Given the description of an element on the screen output the (x, y) to click on. 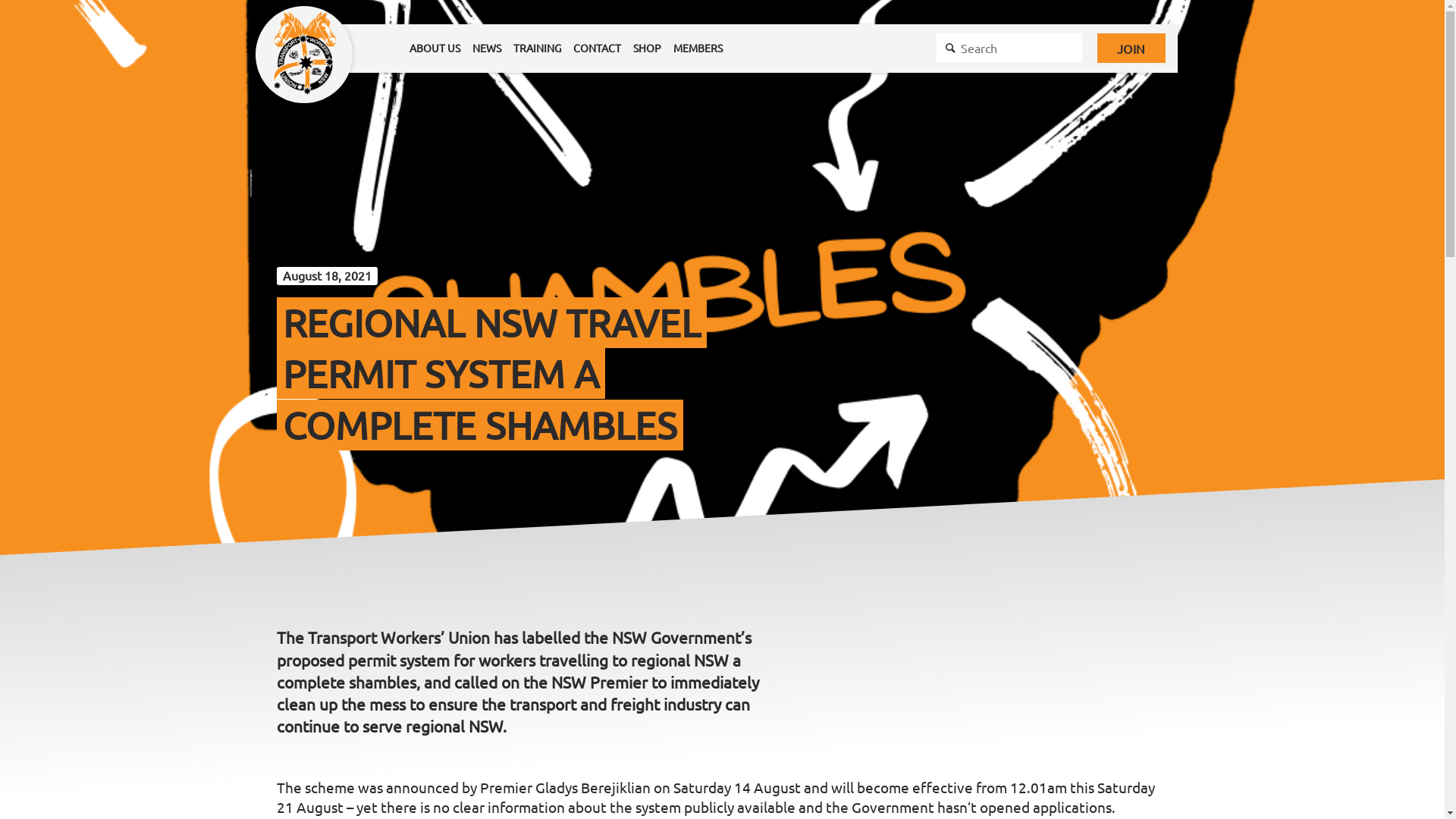
SHOP Element type: text (647, 48)
MEMBERS Element type: text (697, 48)
NEWS Element type: text (486, 48)
CONTACT Element type: text (597, 48)
TRAINING Element type: text (537, 48)
ABOUT US Element type: text (434, 48)
JOIN Element type: text (1131, 47)
